Given the description of an element on the screen output the (x, y) to click on. 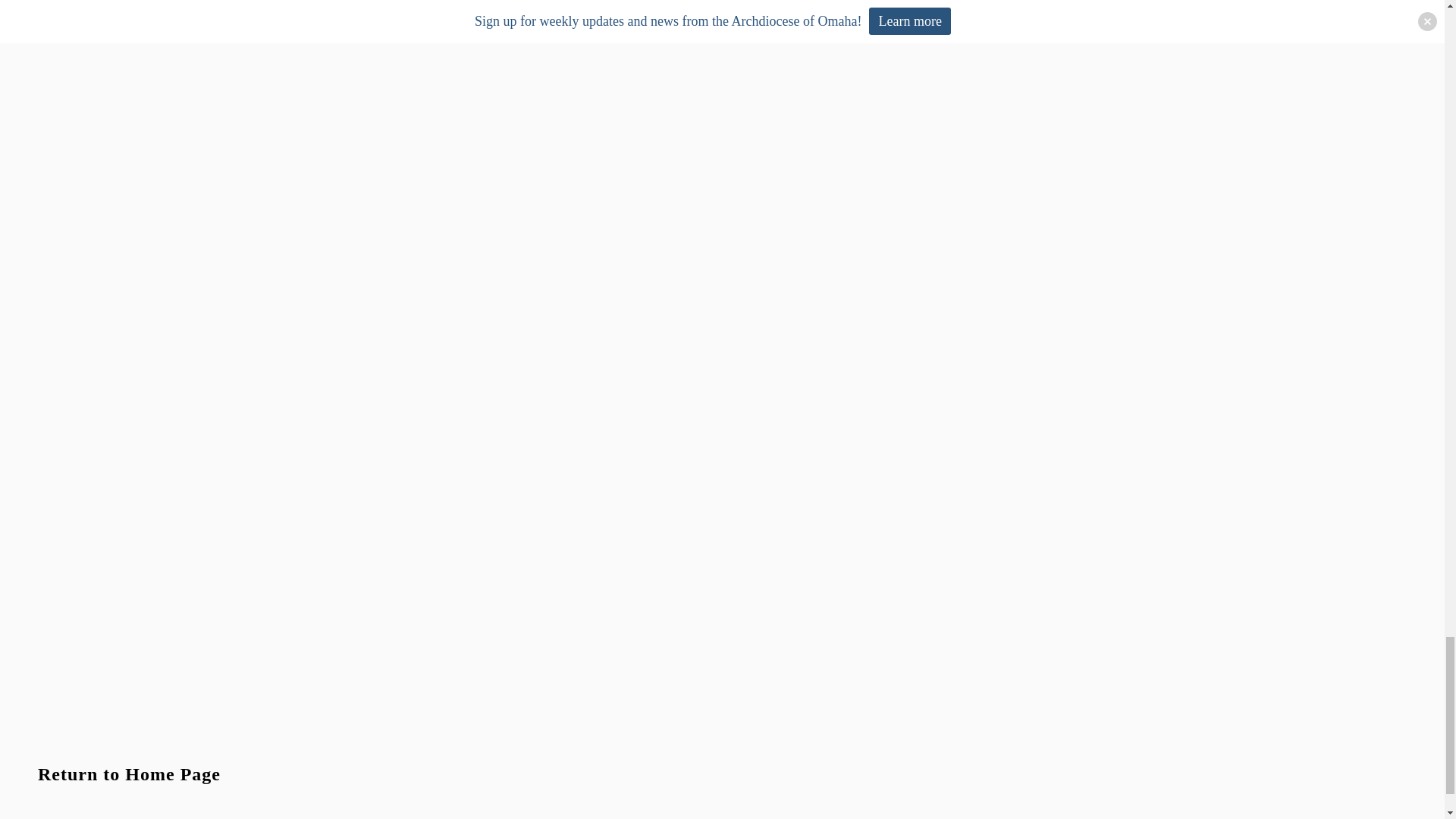
Return to Home Page (129, 774)
